Given the description of an element on the screen output the (x, y) to click on. 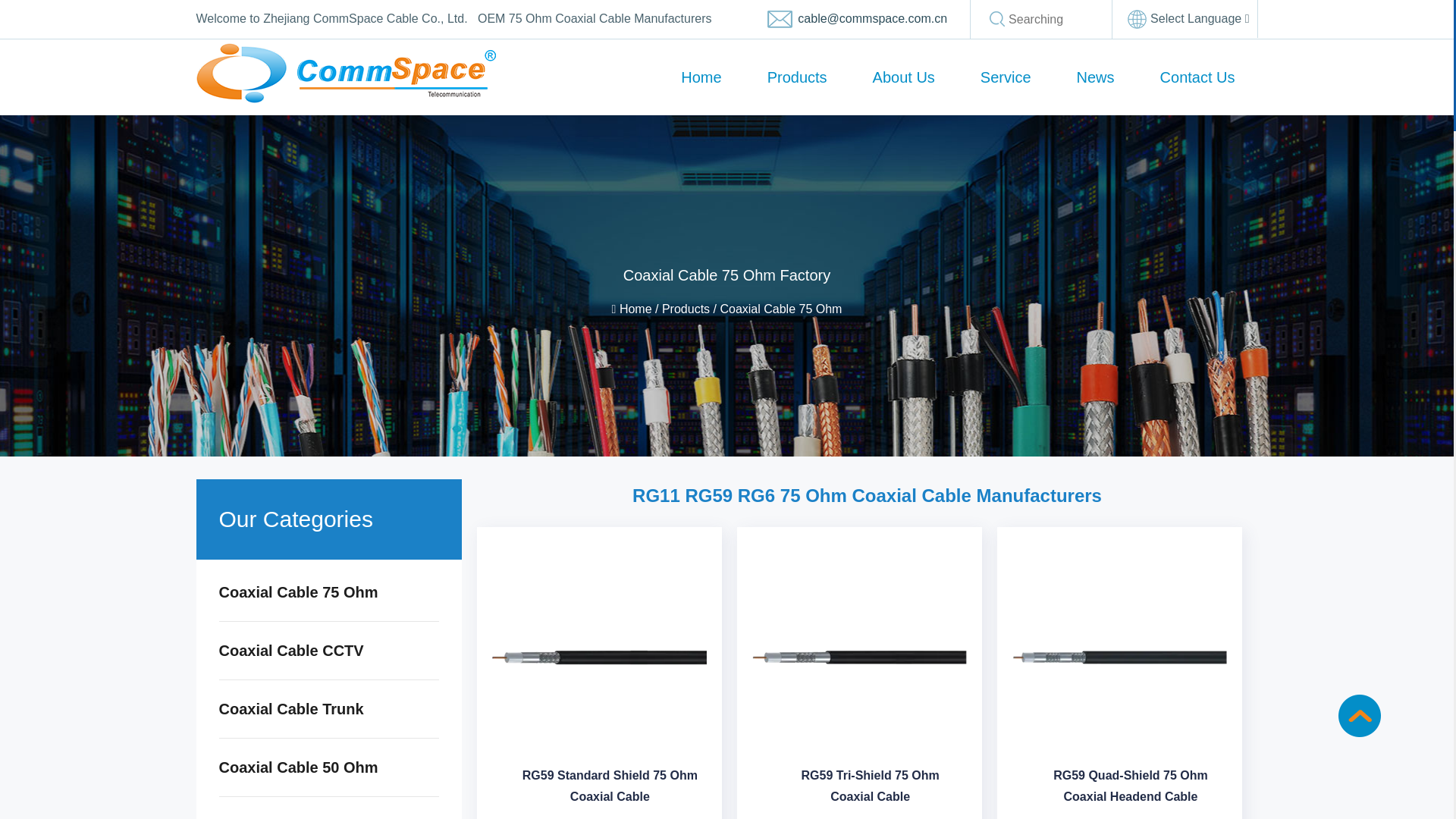
RG59 Standard Shield 75 Ohm Coaxial Cable (609, 790)
RG59 Standard Shield 75 Ohm Coaxial Cable (599, 656)
RG59 Tri-Shield 75 Ohm (869, 790)
OEM 75 Ohm Coaxial Cable Manufacturers (594, 18)
RG59 Tri-Shield 75 Ohm (859, 656)
RG59 Quad-Shield 75 Ohm Coaxial Headend Cable (1130, 790)
RG59 Quad-Shield 75 Ohm Coaxial Headend Cable (1119, 656)
